Given the description of an element on the screen output the (x, y) to click on. 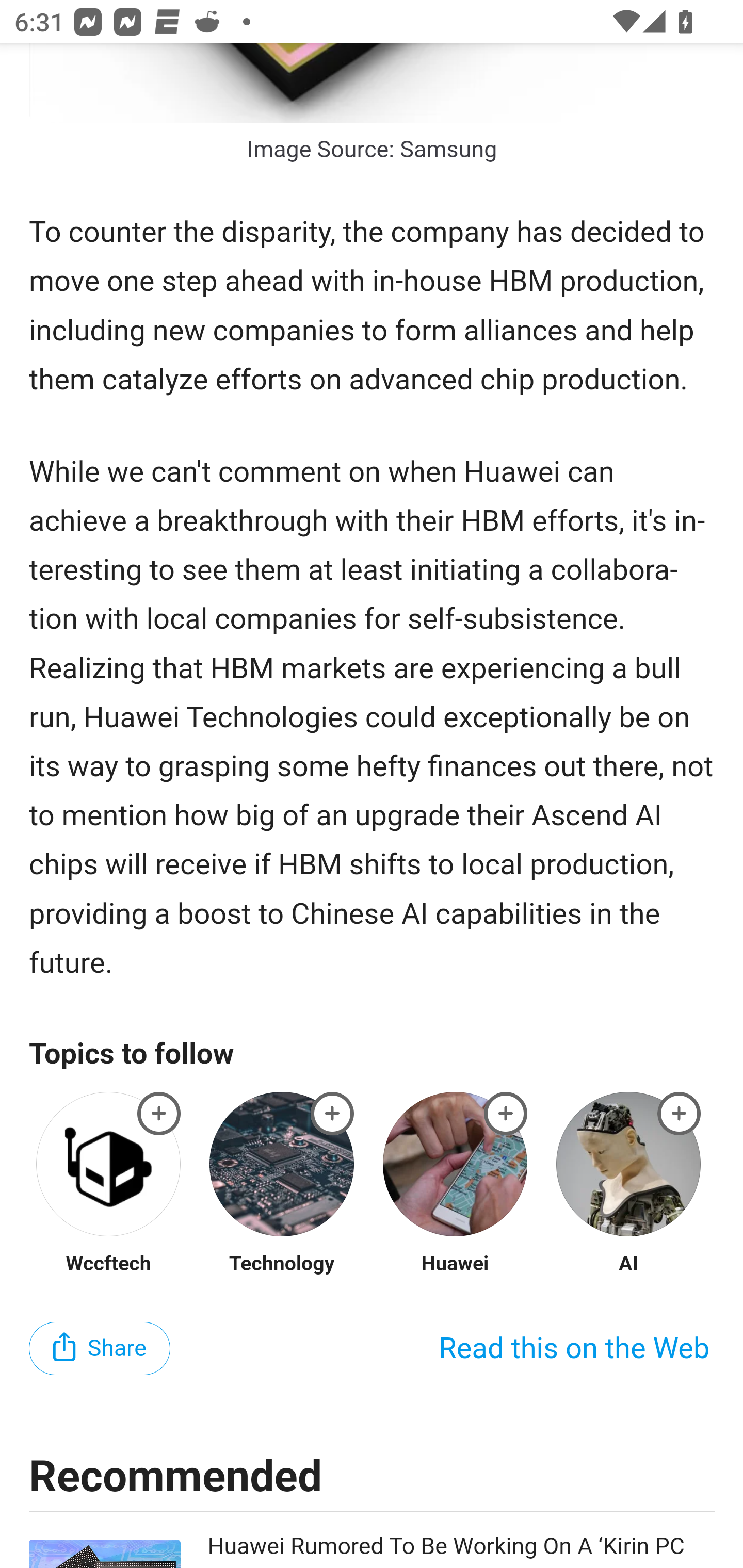
Wccftech (108, 1265)
Technology (281, 1265)
Huawei (454, 1265)
AI (627, 1265)
Read this on the Web (573, 1351)
Share (99, 1349)
